Given the description of an element on the screen output the (x, y) to click on. 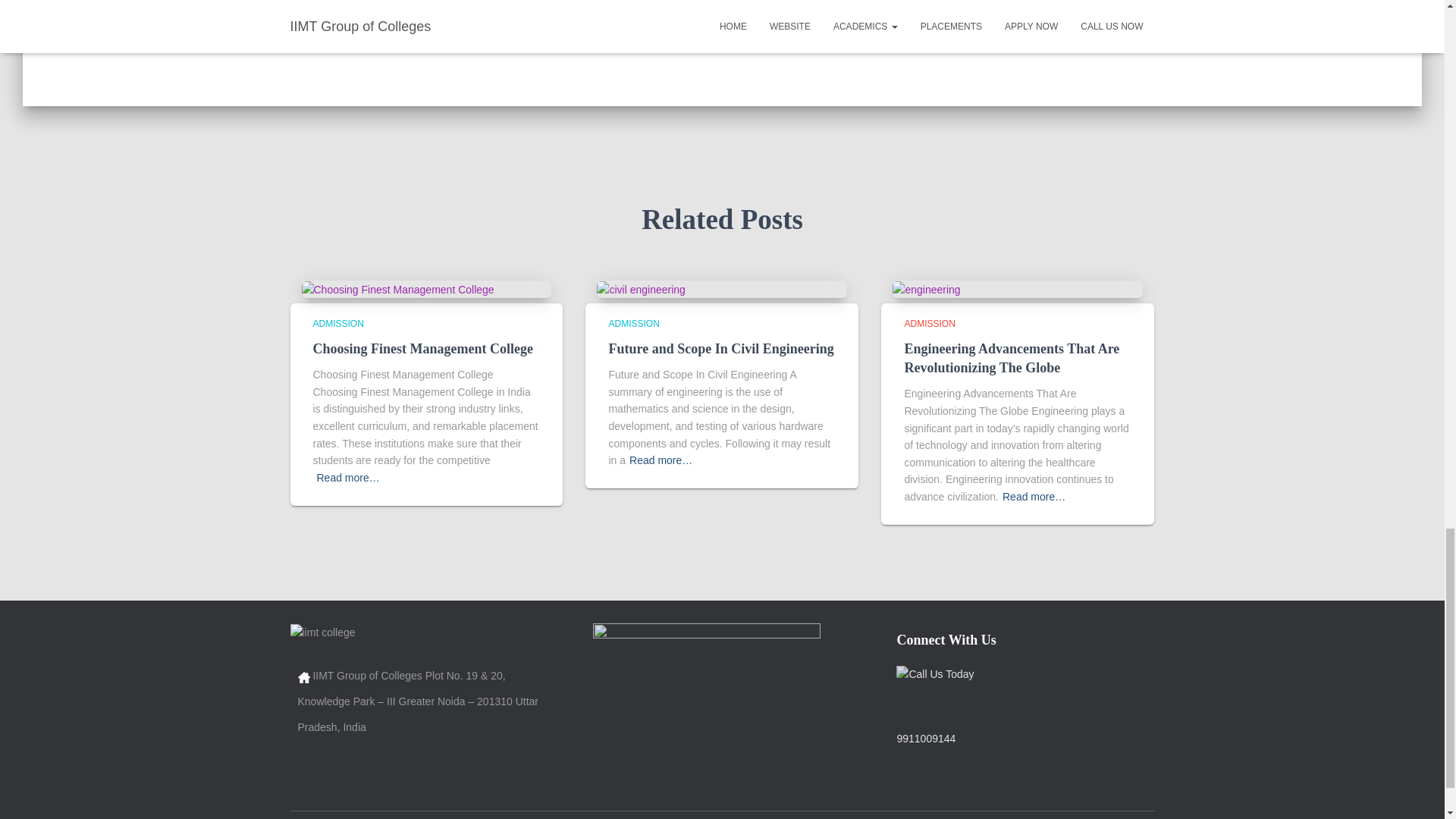
Future and Scope In Civil Engineering (640, 288)
Choosing Finest Management College (422, 348)
Choosing Finest Management College (398, 288)
View all posts in Admission (337, 323)
